Given the description of an element on the screen output the (x, y) to click on. 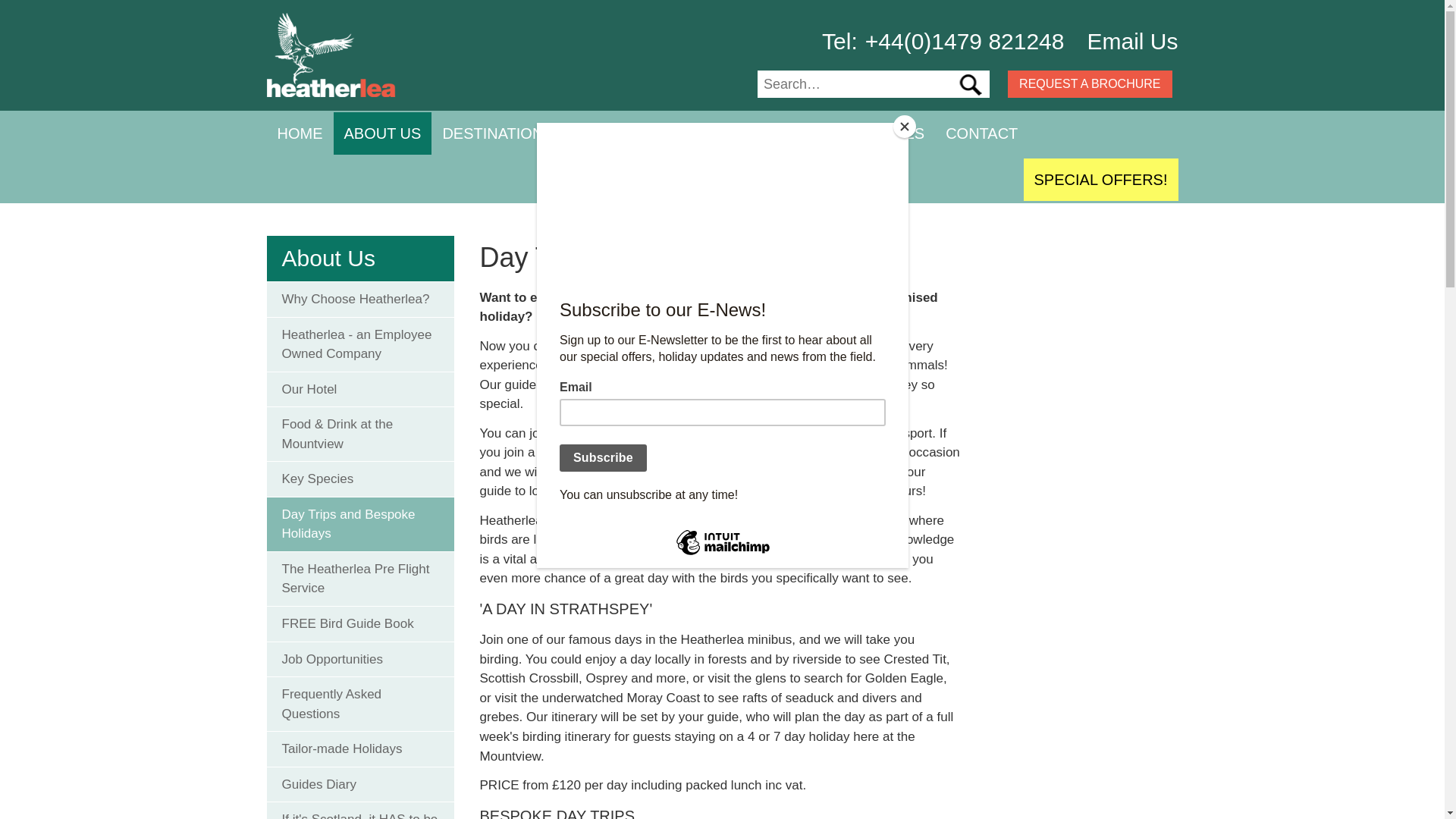
Call Us (943, 41)
TOUR FOCUS (624, 133)
Telephone (843, 41)
GUIDES (895, 133)
SPECIAL OFFERS! (1100, 179)
DESTINATIONS (496, 133)
ABOUT US (382, 133)
REQUEST A BROCHURE (1089, 83)
CONTACT (980, 133)
CALENDAR (737, 133)
Email Us (1131, 41)
HOME (299, 133)
Email Us (1131, 41)
NEWS (822, 133)
Search... (852, 83)
